Given the description of an element on the screen output the (x, y) to click on. 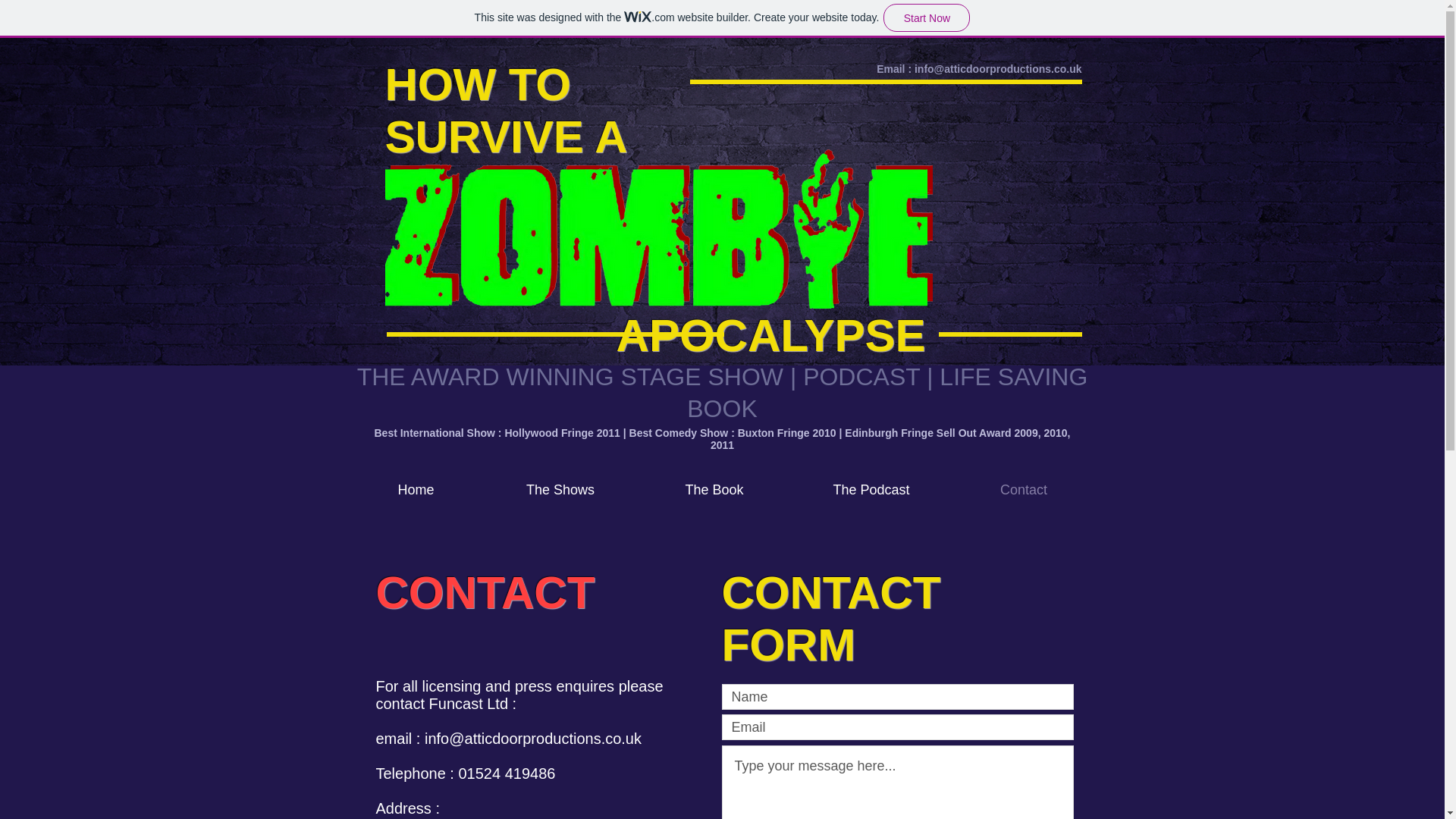
Home (415, 489)
Contact (1023, 489)
The Book (714, 489)
The Shows (559, 489)
The Podcast (871, 489)
